Given the description of an element on the screen output the (x, y) to click on. 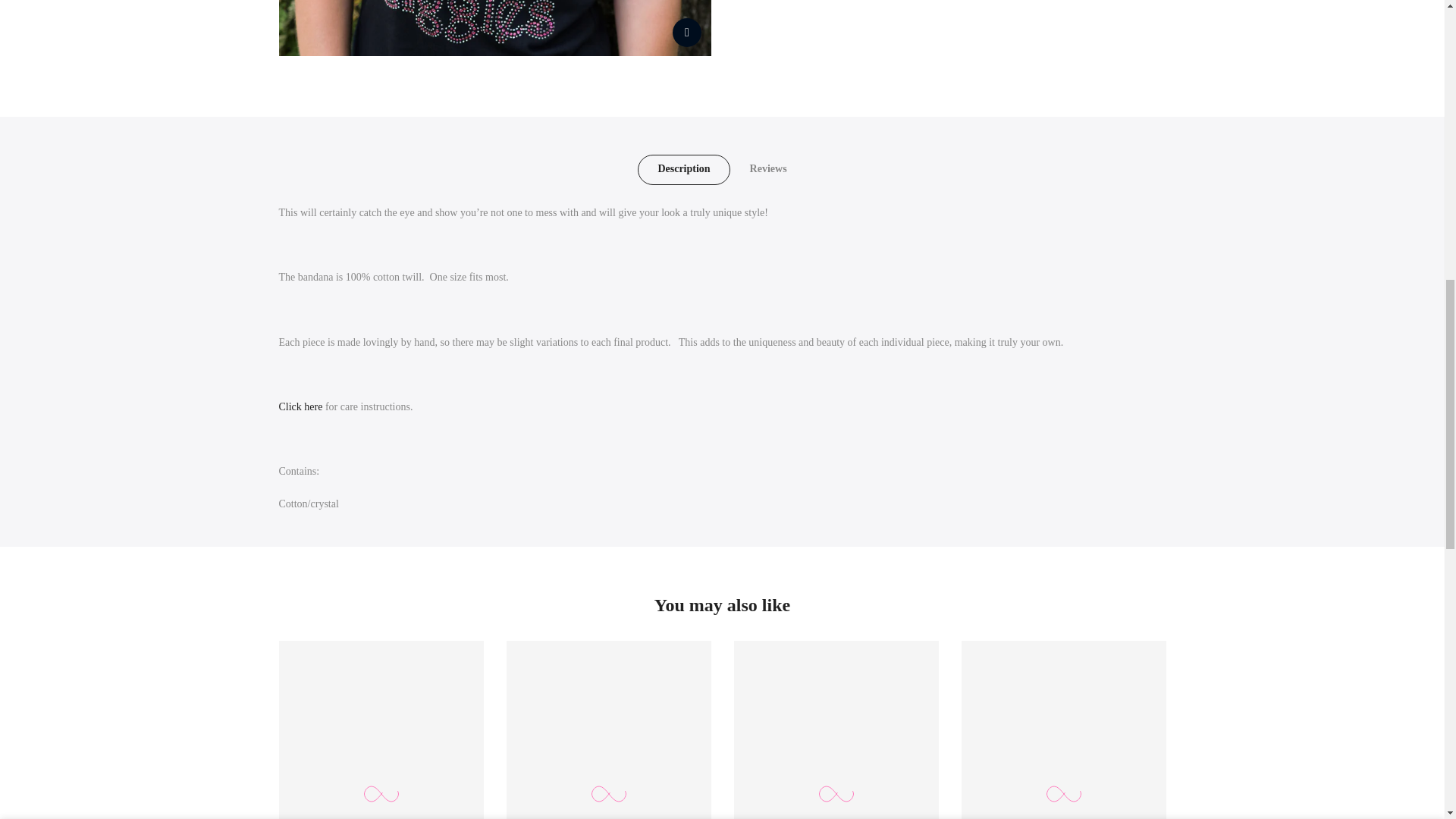
1 (1001, 35)
Description (683, 169)
Click here (301, 406)
Reviews (768, 169)
